Given the description of an element on the screen output the (x, y) to click on. 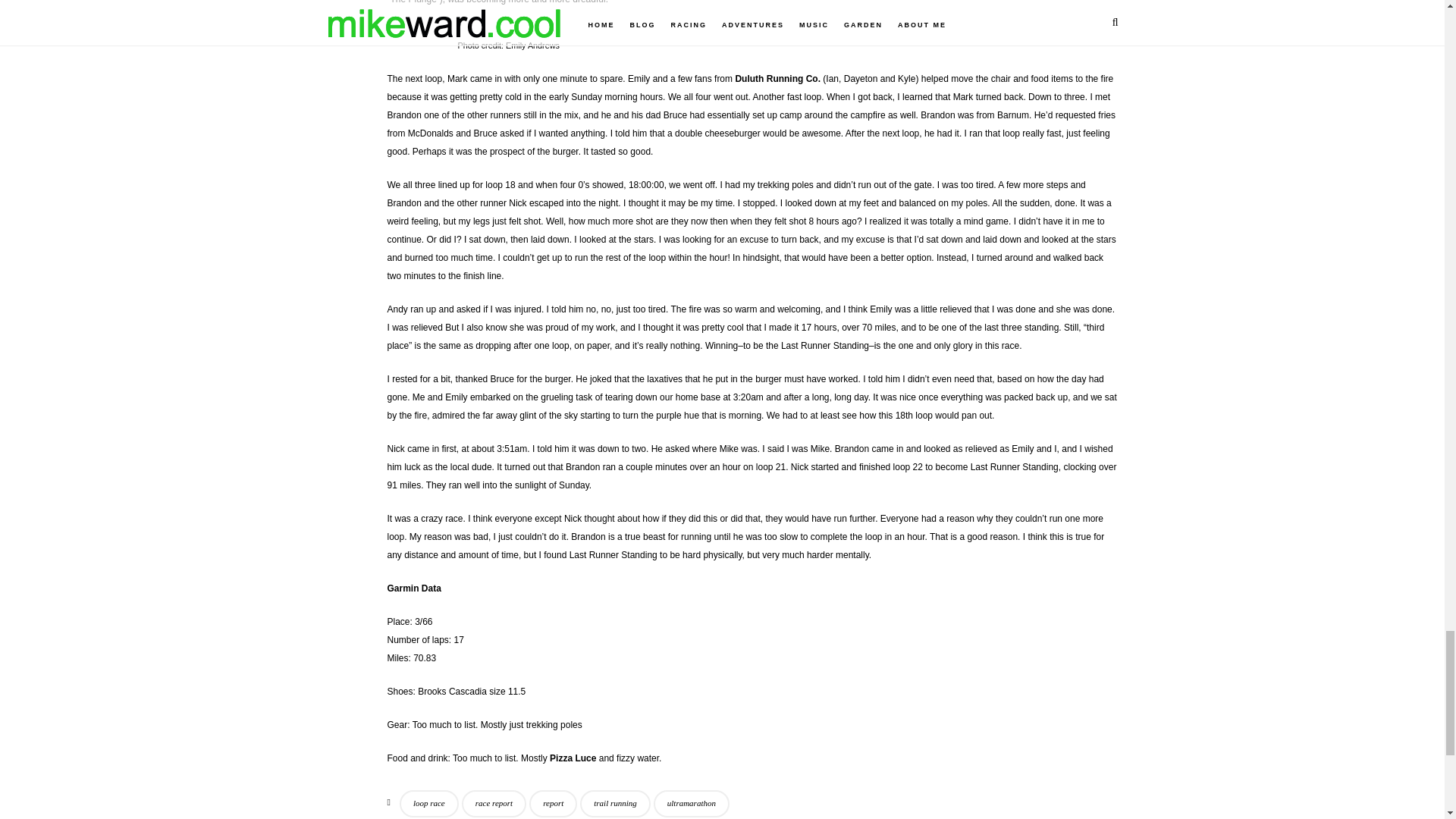
Garmin Data (414, 588)
report (552, 803)
Duluth Running Co. (778, 78)
loop race (428, 803)
Pizza Luce (572, 757)
ultramarathon (691, 803)
trail running (614, 803)
race report (493, 803)
